Given the description of an element on the screen output the (x, y) to click on. 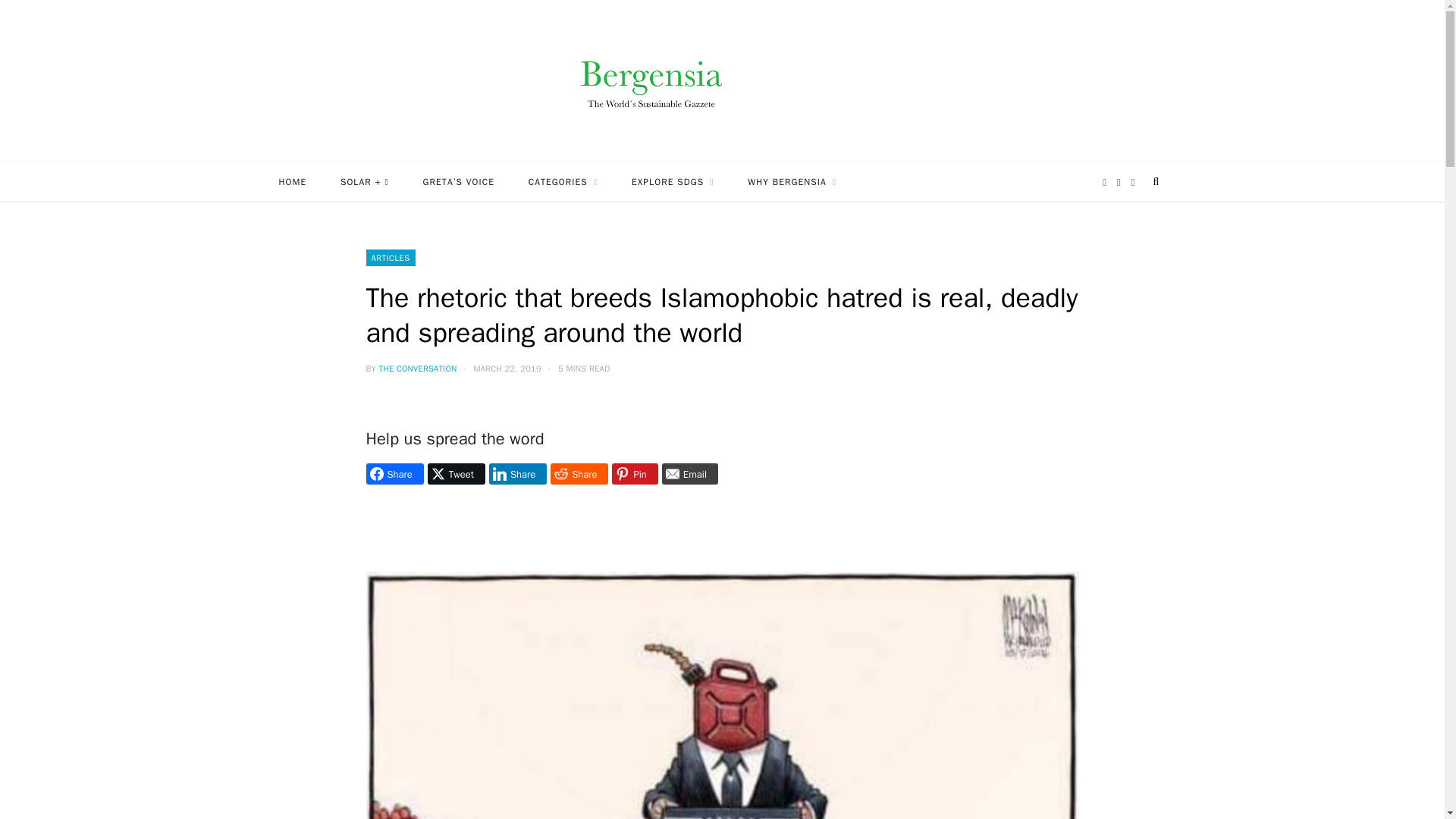
HOME (292, 181)
Posts by The Conversation (417, 368)
Bergensia (721, 80)
Share on Share (518, 473)
Share on Share (394, 473)
CATEGORIES (562, 181)
Share on Pin (634, 473)
Share on Email (689, 473)
Share on Share (579, 473)
EXPLORE SDGS (672, 181)
Share on Tweet (456, 473)
